Given the description of an element on the screen output the (x, y) to click on. 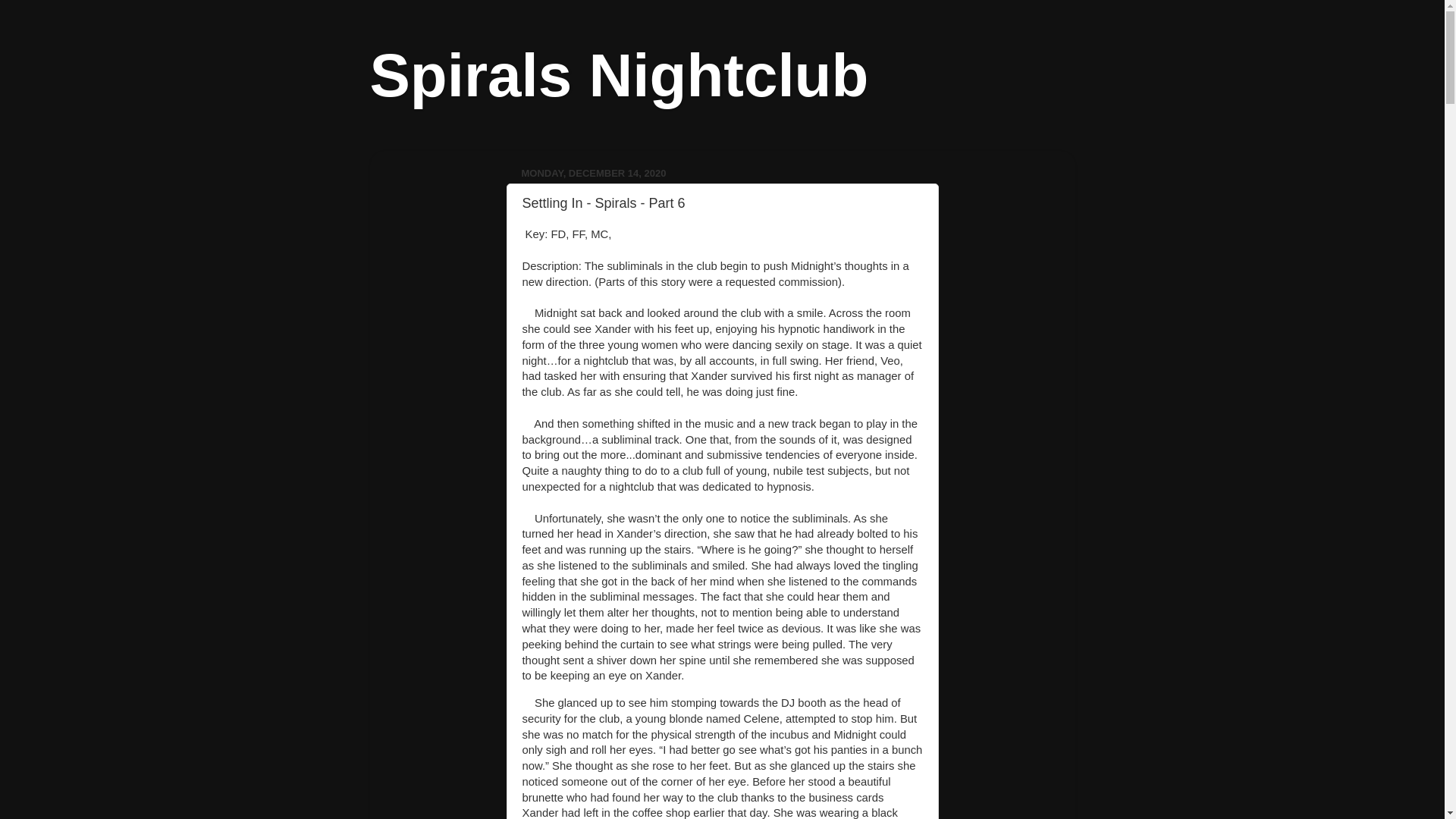
Spirals Nightclub (619, 74)
